Given the description of an element on the screen output the (x, y) to click on. 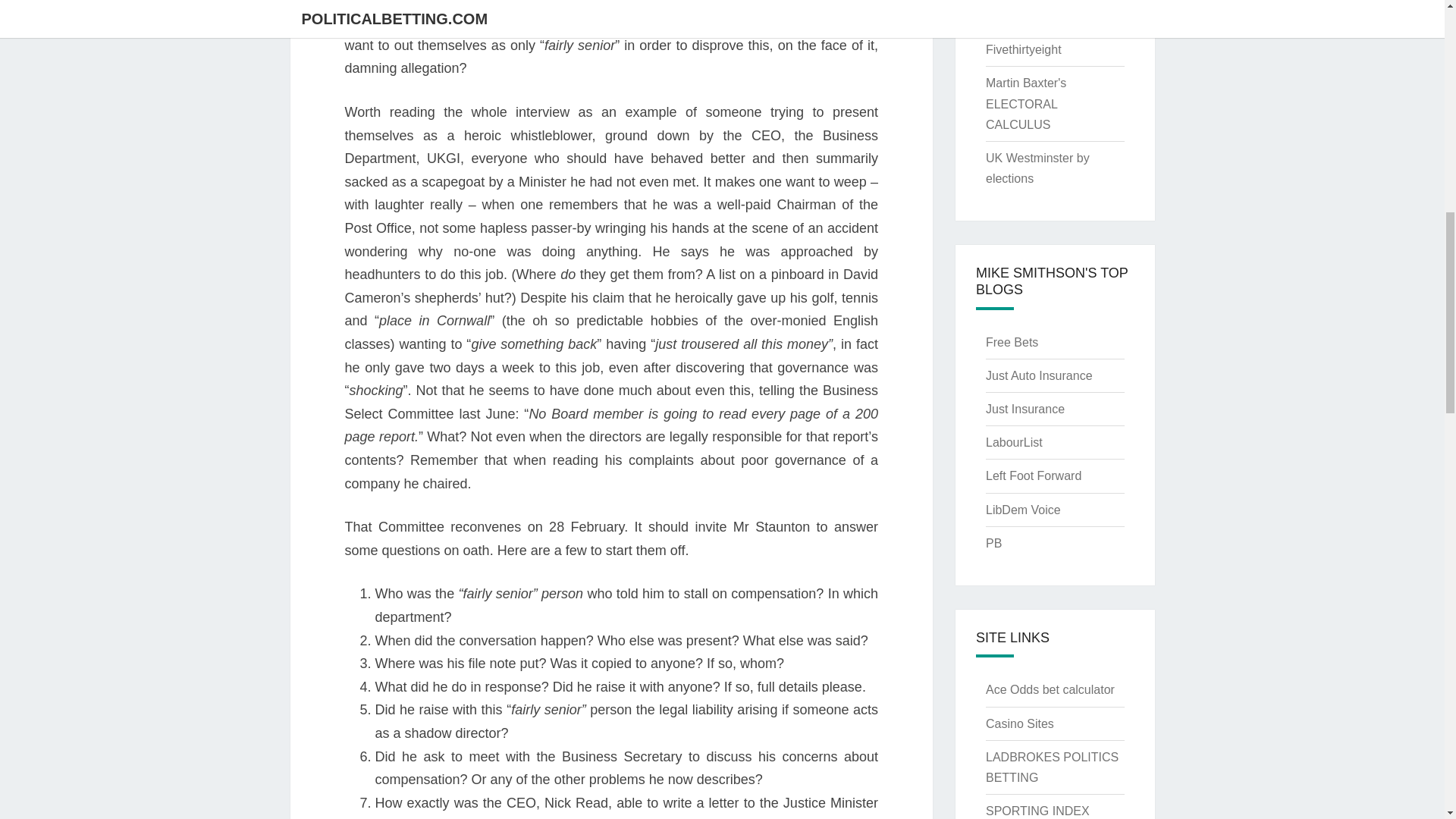
Martin Baxter's ELECTORAL CALCULUS (1025, 103)
Just Auto Insurance (1039, 375)
Free Bets (1011, 341)
Left Foot Forward (1033, 475)
SPORTING INDEX (1037, 810)
UK Westminster by elections (1037, 168)
LabourList (1013, 441)
Just Insurance (1024, 408)
Fivethirtyeight (1023, 49)
PB (993, 543)
Ace Odds bet calculator (1050, 689)
Casino Sites (1019, 723)
LibDem Voice (1023, 509)
LADBROKES POLITICS BETTING (1051, 767)
Economist US (1023, 15)
